Given the description of an element on the screen output the (x, y) to click on. 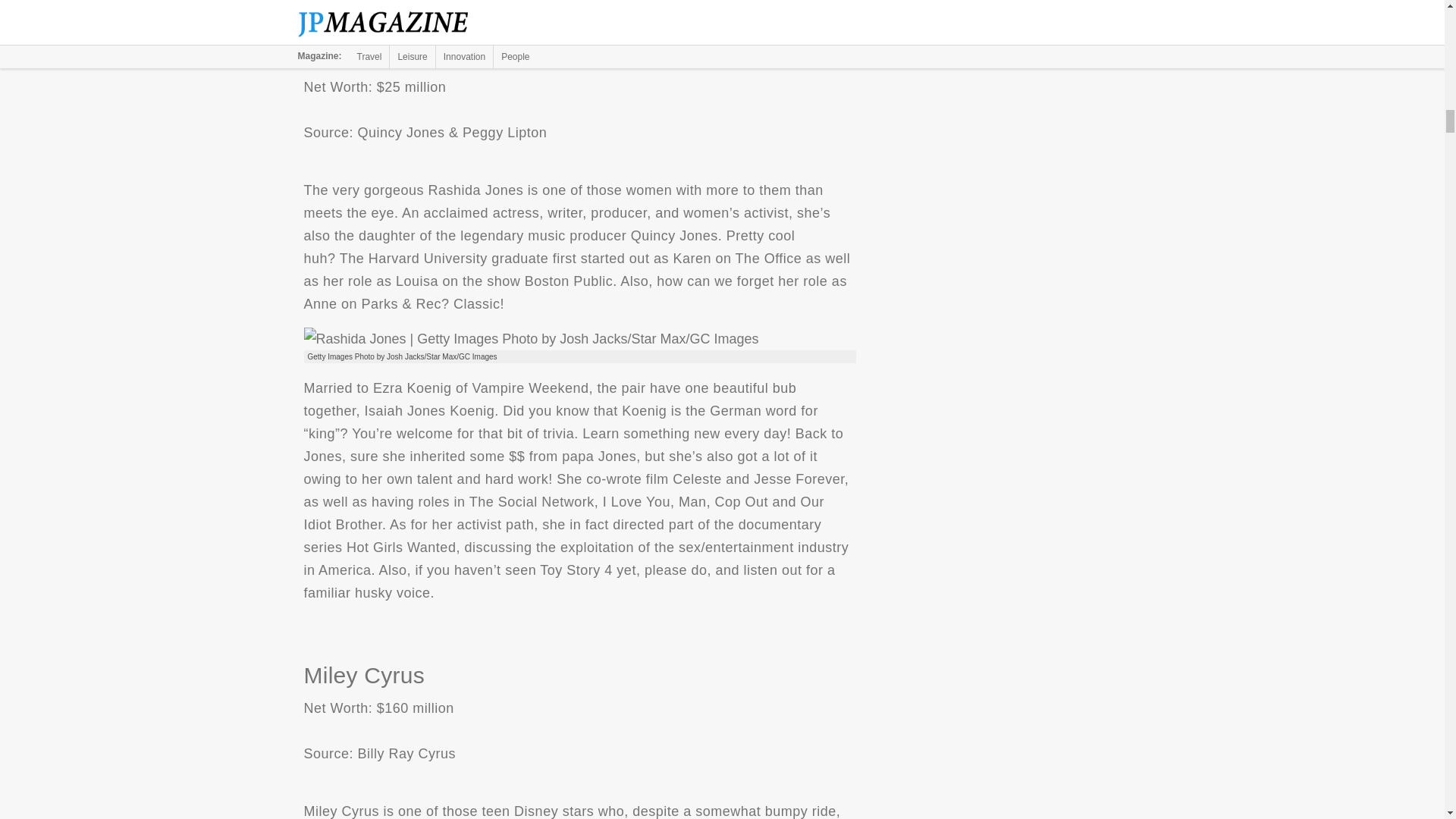
Rashida Jones (530, 338)
